Given the description of an element on the screen output the (x, y) to click on. 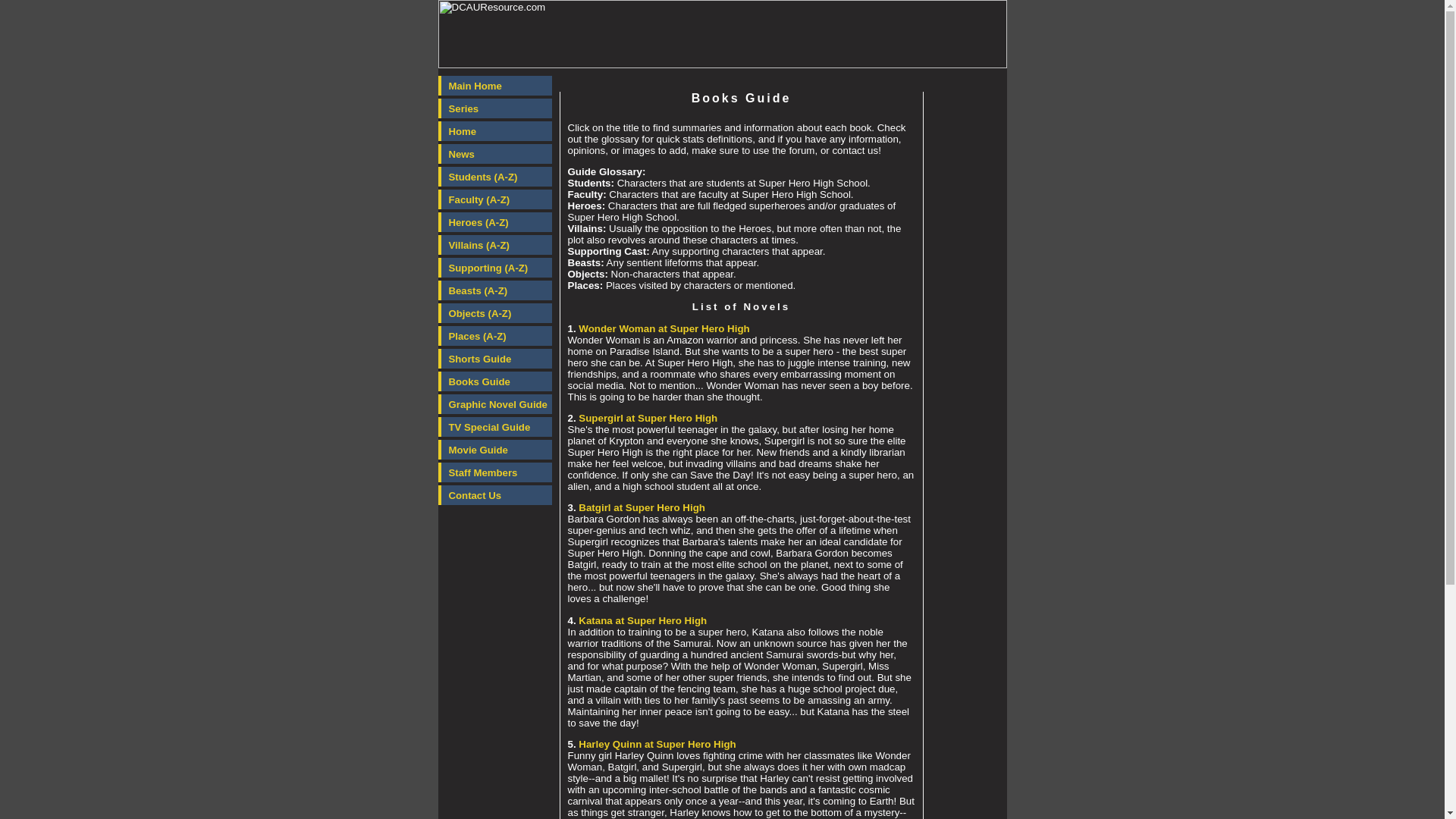
Batgirl at Super Hero High (641, 507)
Wonder Woman at Super Hero High (663, 328)
Shorts Guide (494, 358)
Supergirl at Super Hero High (647, 418)
Harley Quinn at Super Hero High (656, 744)
Books Guide (494, 381)
Staff Members (494, 472)
Series (494, 107)
Katana at Super Hero High (642, 619)
TV Special Guide (494, 426)
